Given the description of an element on the screen output the (x, y) to click on. 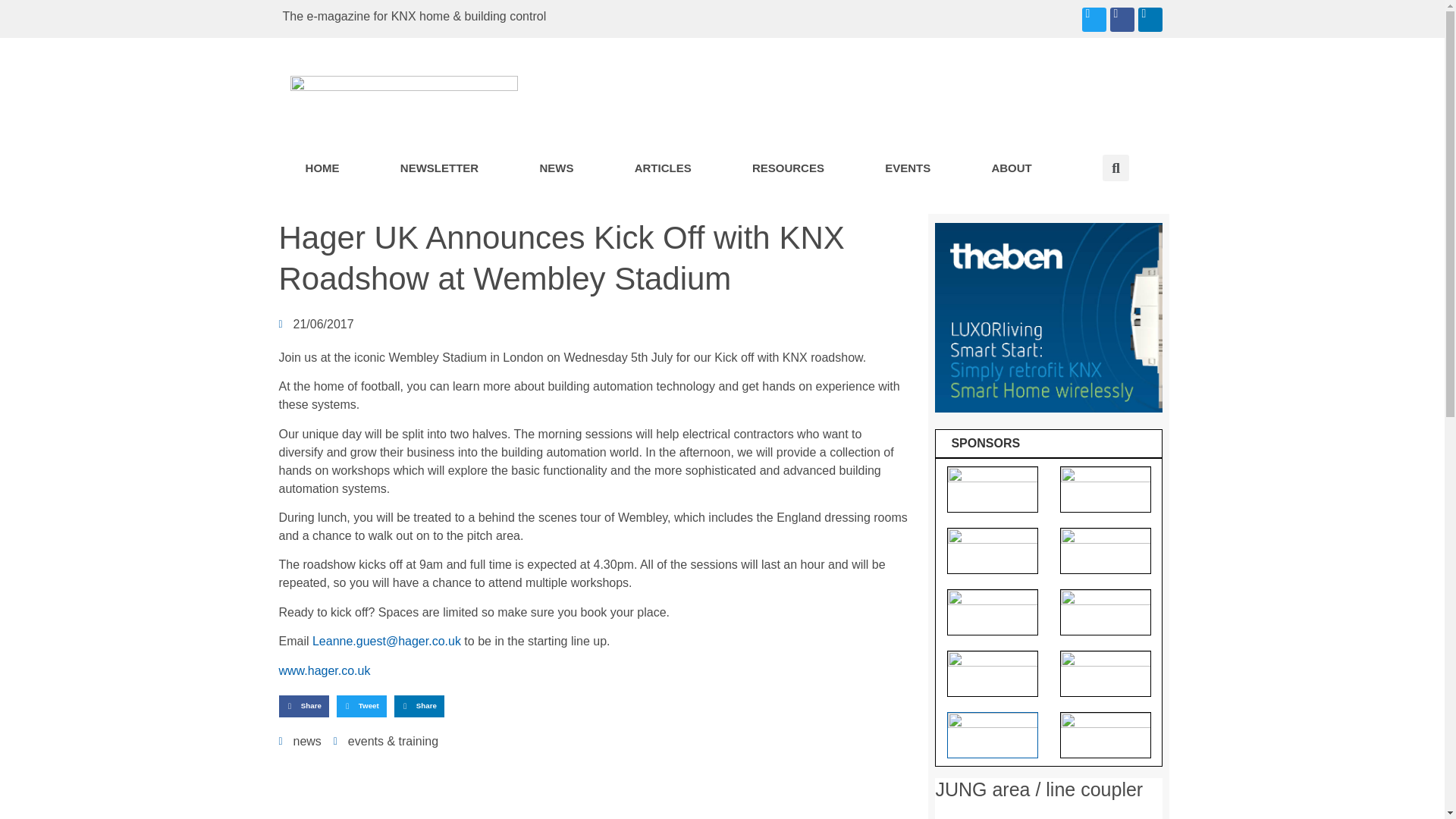
ABOUT (1011, 167)
RESOURCES (788, 167)
NEWS (556, 167)
www.hager.co.uk (325, 670)
NEWSLETTER (439, 167)
news (306, 740)
EVENTS (907, 167)
HOME (322, 167)
ARTICLES (663, 167)
